Given the description of an element on the screen output the (x, y) to click on. 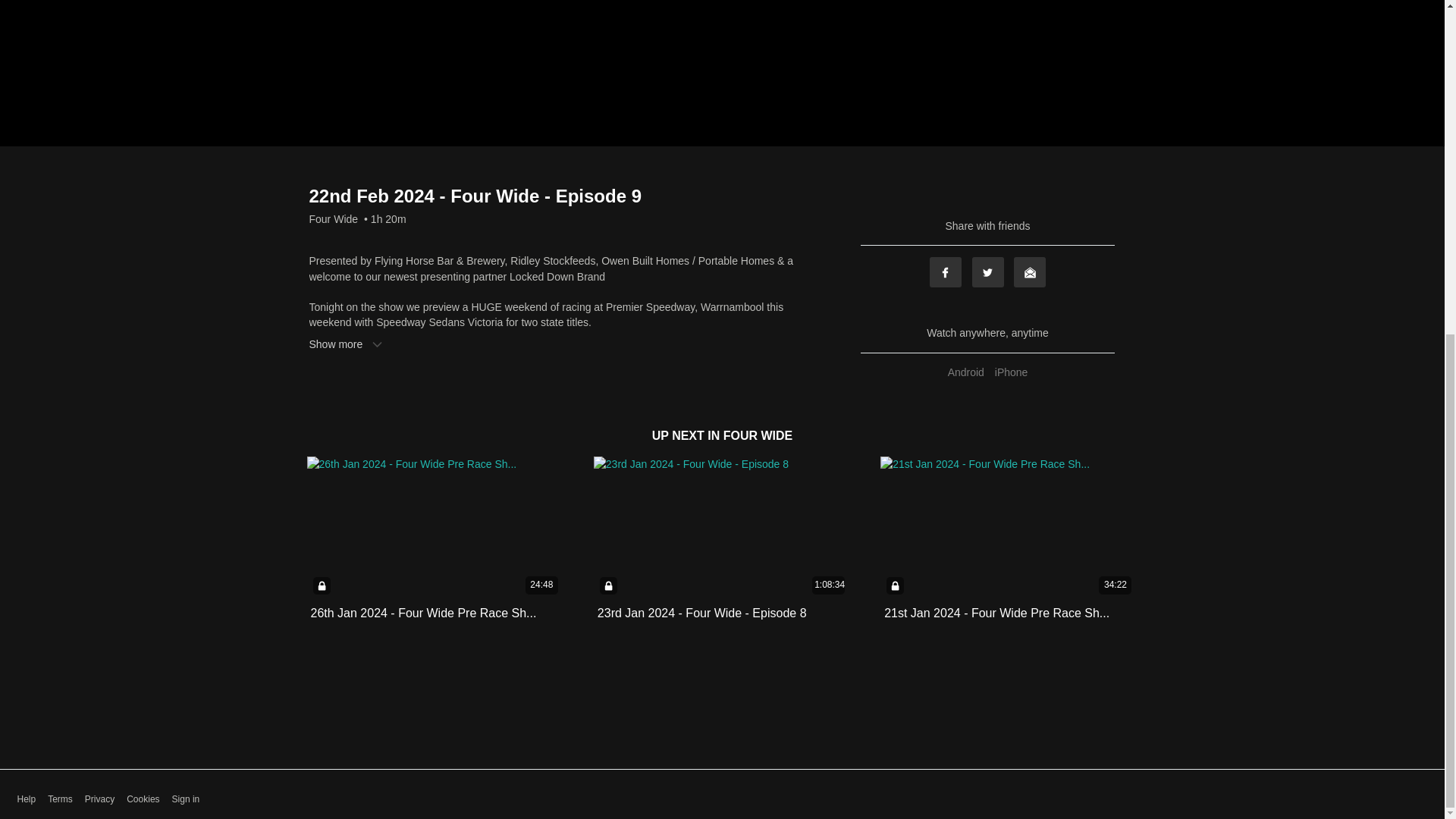
26th Jan 2024 - Four Wide Pre Race Sh... (424, 612)
21st Jan 2024 - Four Wide Pre Race Sh... (996, 613)
Privacy (99, 799)
FOUR WIDE (758, 435)
Help (25, 799)
Terms (60, 799)
1:08:34 (722, 527)
23rd Jan 2024 - Four Wide - Episode 8 (701, 613)
Twitter (988, 272)
iPhone (1011, 372)
Four Wide (333, 218)
23rd Jan 2024 - Four Wide - Episode 8 (701, 612)
Sign in (185, 799)
Facebook (945, 272)
24:48 (434, 527)
